Given the description of an element on the screen output the (x, y) to click on. 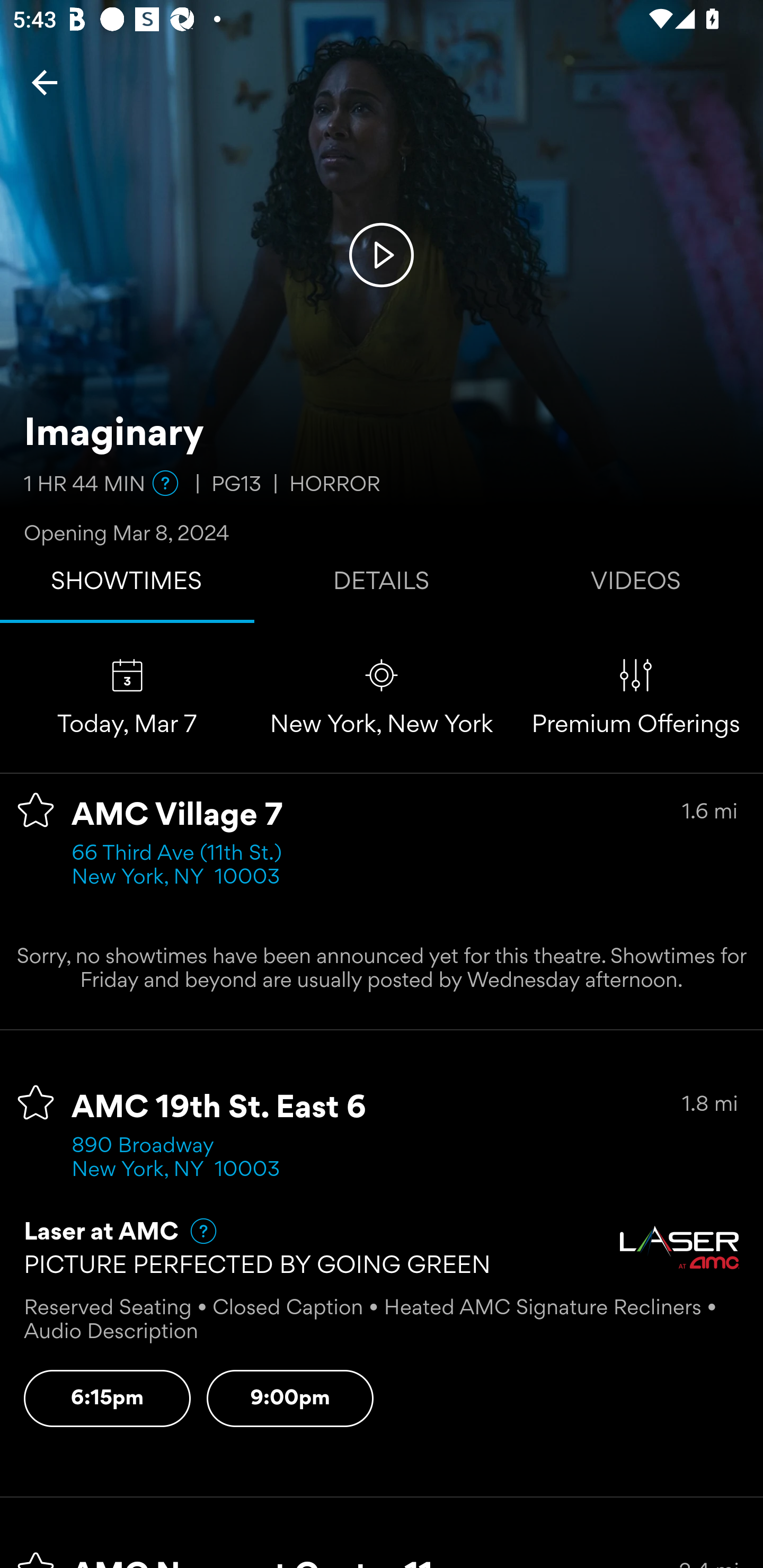
Back (44, 82)
Play (381, 254)
Help (165, 482)
SHOWTIMES
Tab 1 of 3 (127, 584)
DETAILS
Tab 2 of 3 (381, 584)
VIDEOS
Tab 3 of 3 (635, 584)
Change selected day
Today, Mar 7 (127, 697)
Change location
New York, New York (381, 697)
Premium Offerings
Premium Offerings (635, 697)
AMC Village 7 (177, 816)
66 Third Ave (11th St.)  
New York, NY  10003 (182, 866)
AMC 19th St. East 6 (219, 1108)
890 Broadway  
New York, NY  10003 (176, 1158)
Help (195, 1230)
